Given the description of an element on the screen output the (x, y) to click on. 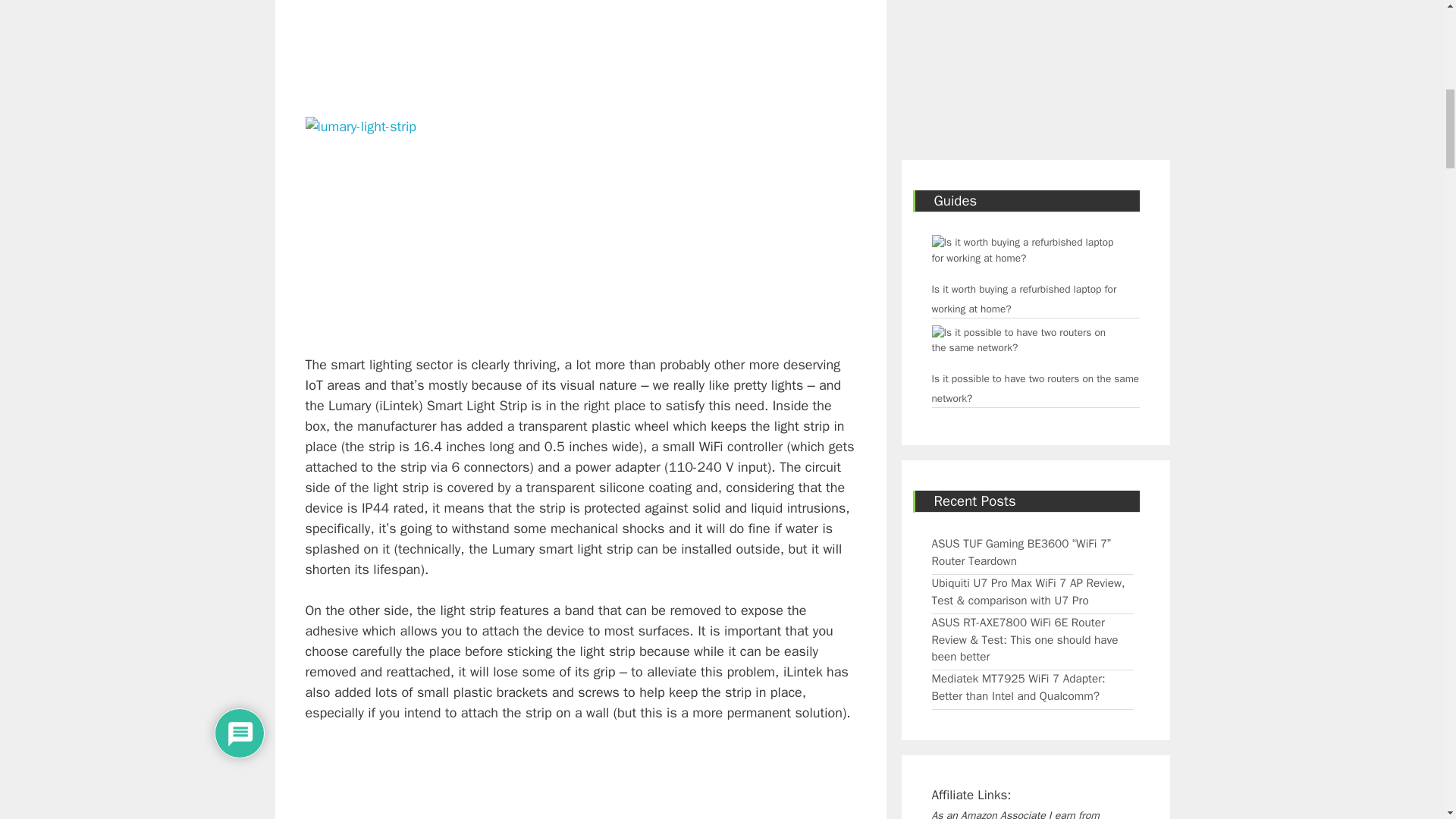
Scroll back to top (1406, 720)
Is it possible to have two routers on the same network? (1025, 346)
Is it worth buying a refurbished laptop for working at home? (1025, 256)
